Given the description of an element on the screen output the (x, y) to click on. 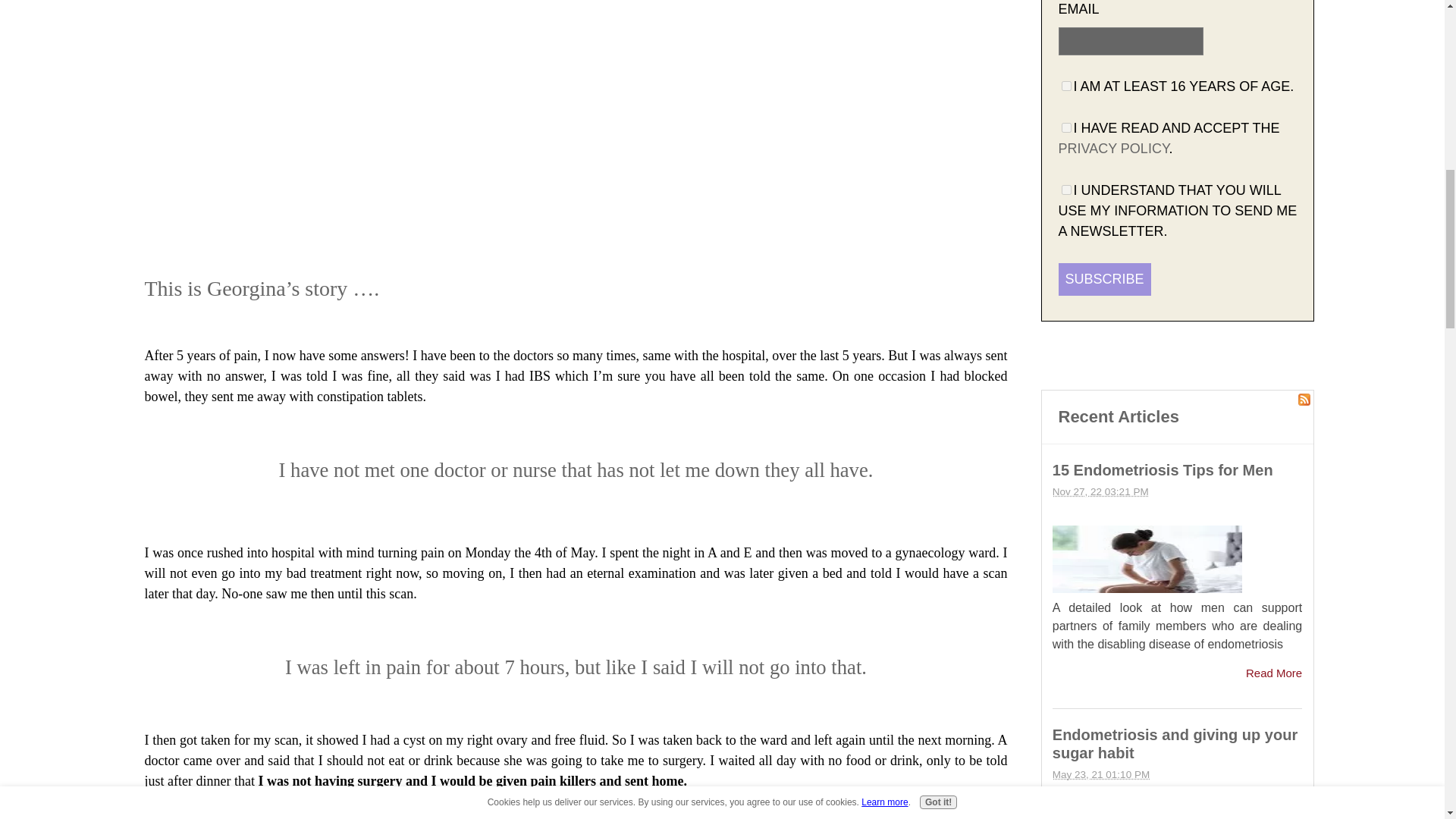
2022-11-27T15:21:16-0500 (1100, 491)
on (1066, 127)
PRIVACY POLICY (1113, 148)
on (1066, 189)
Recent Articles (1118, 416)
2021-05-23T13:10:39-0400 (1101, 774)
SUBSCRIBE (1104, 278)
on (1066, 85)
